Given the description of an element on the screen output the (x, y) to click on. 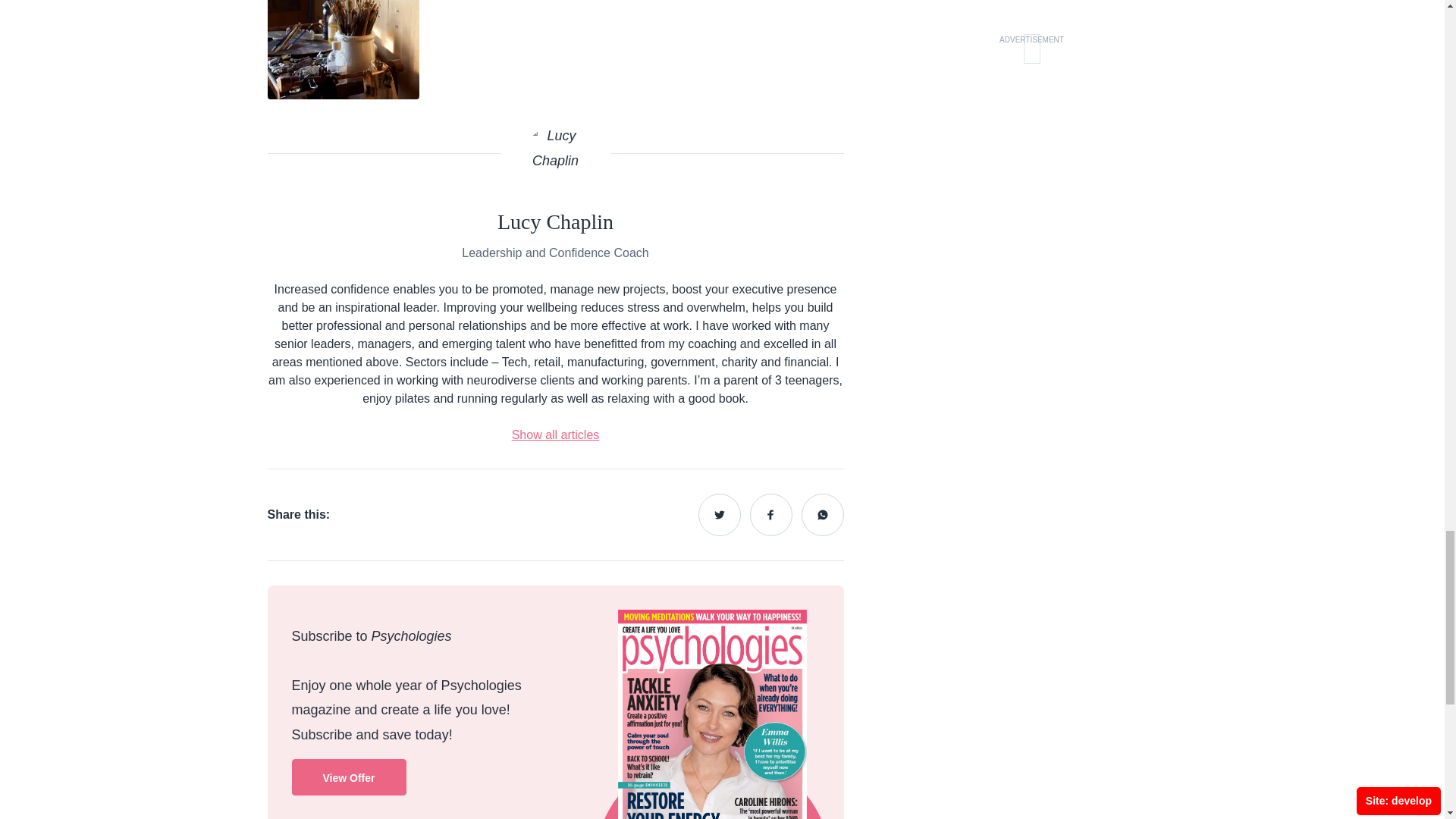
Click to share on Twitter (718, 514)
Click to share on Facebook (770, 514)
Click to share on WhatsApp (821, 514)
